Given the description of an element on the screen output the (x, y) to click on. 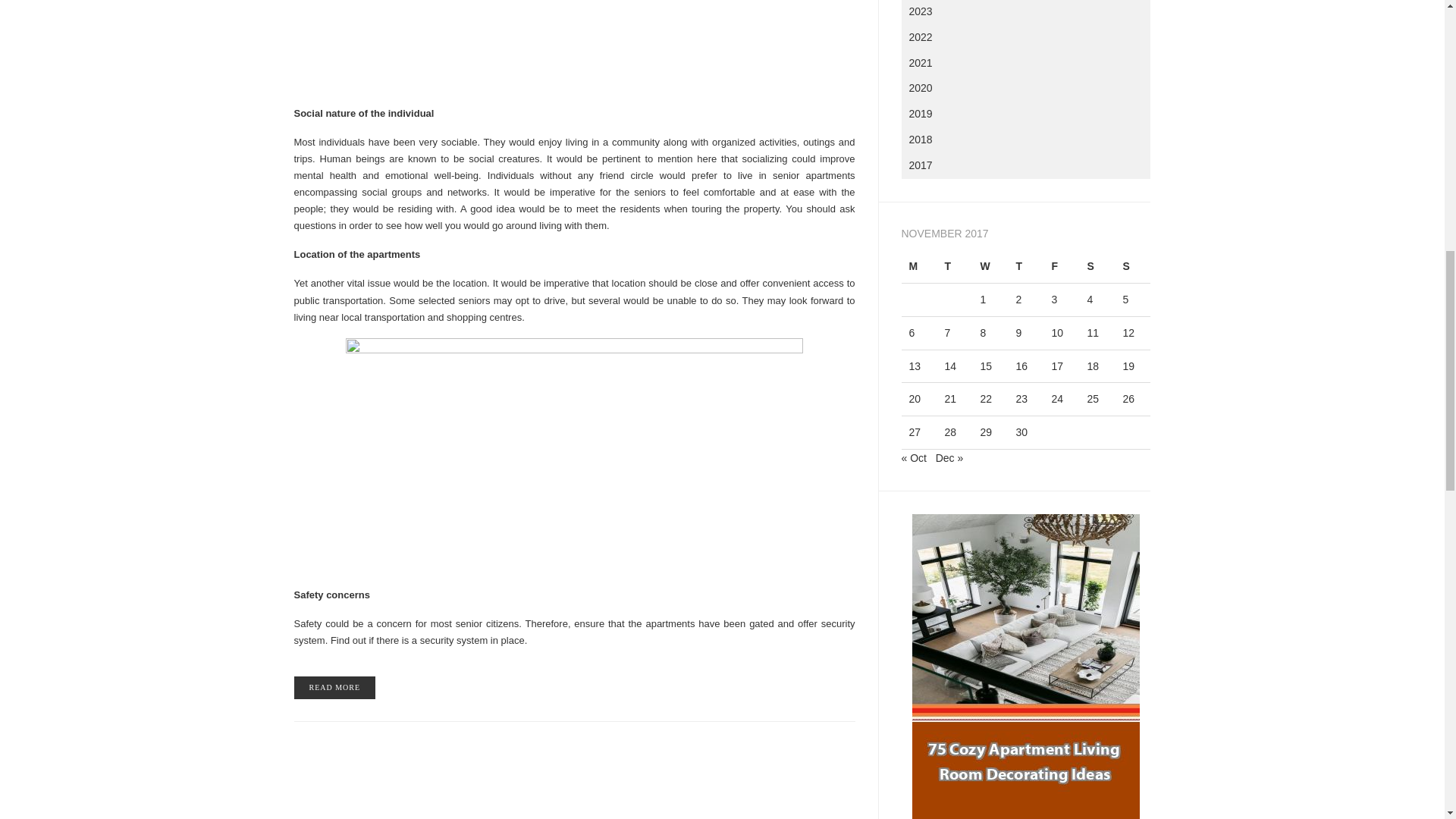
Sunday (1132, 266)
What to Look for in Senior Apartments (334, 687)
Wednesday (989, 266)
Friday (1060, 266)
Thursday (1025, 266)
Saturday (1096, 266)
2023 (1025, 12)
Tuesday (954, 266)
READ MORE (334, 687)
Monday (918, 266)
